Given the description of an element on the screen output the (x, y) to click on. 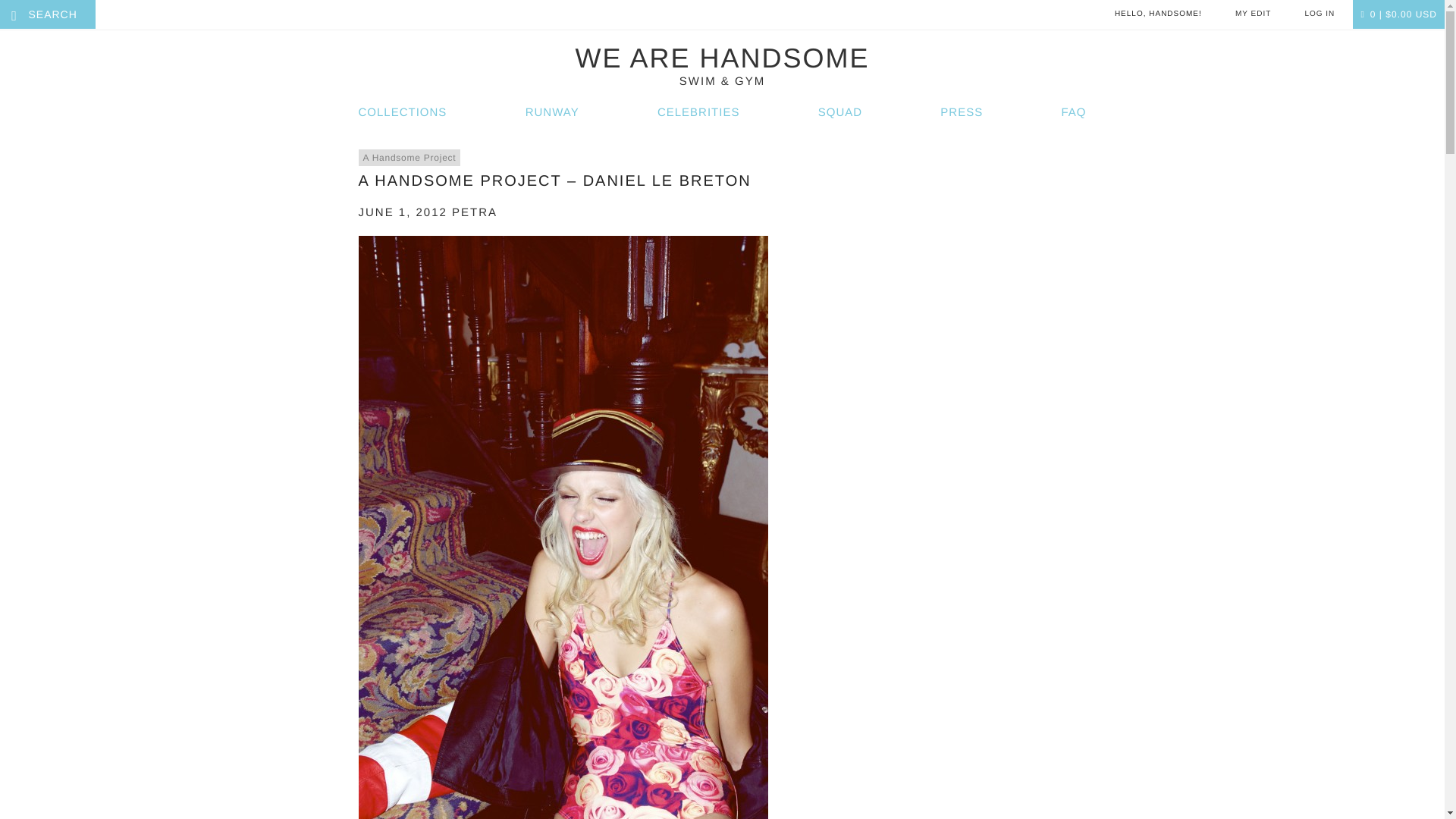
FAQ (1073, 112)
CELEBRITIES (698, 112)
SEARCH (38, 14)
SQUAD (839, 112)
MY EDIT (1252, 13)
PETRA (474, 212)
A Handsome Project (409, 157)
LOG IN (1319, 13)
RUNWAY (552, 112)
PRESS (961, 112)
JUNE 1, 2012 (402, 212)
COLLECTIONS (402, 112)
